Given the description of an element on the screen output the (x, y) to click on. 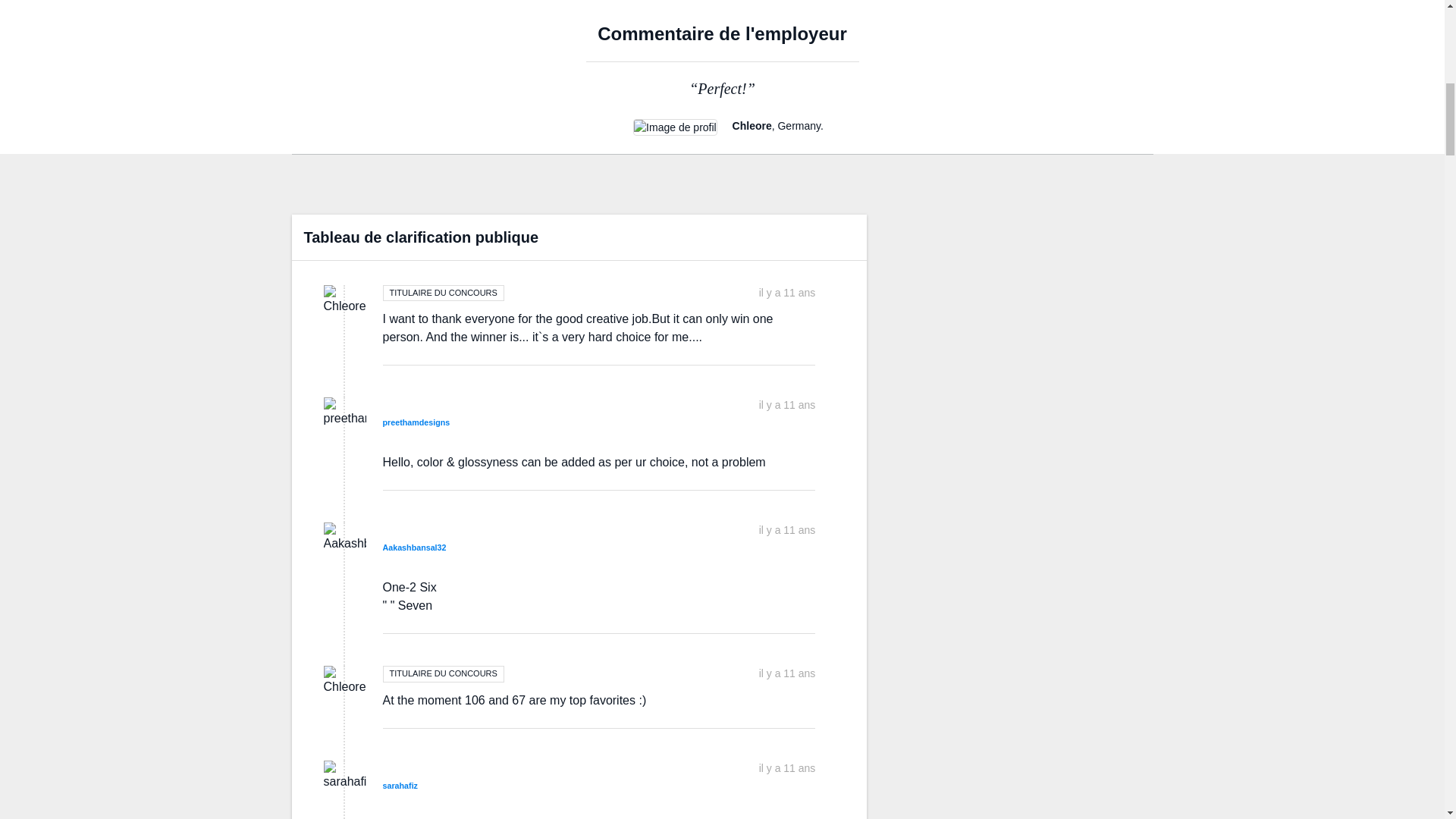
Aakashbansal32 (413, 547)
sarahafiz (398, 785)
preethamdesigns (415, 421)
